Given the description of an element on the screen output the (x, y) to click on. 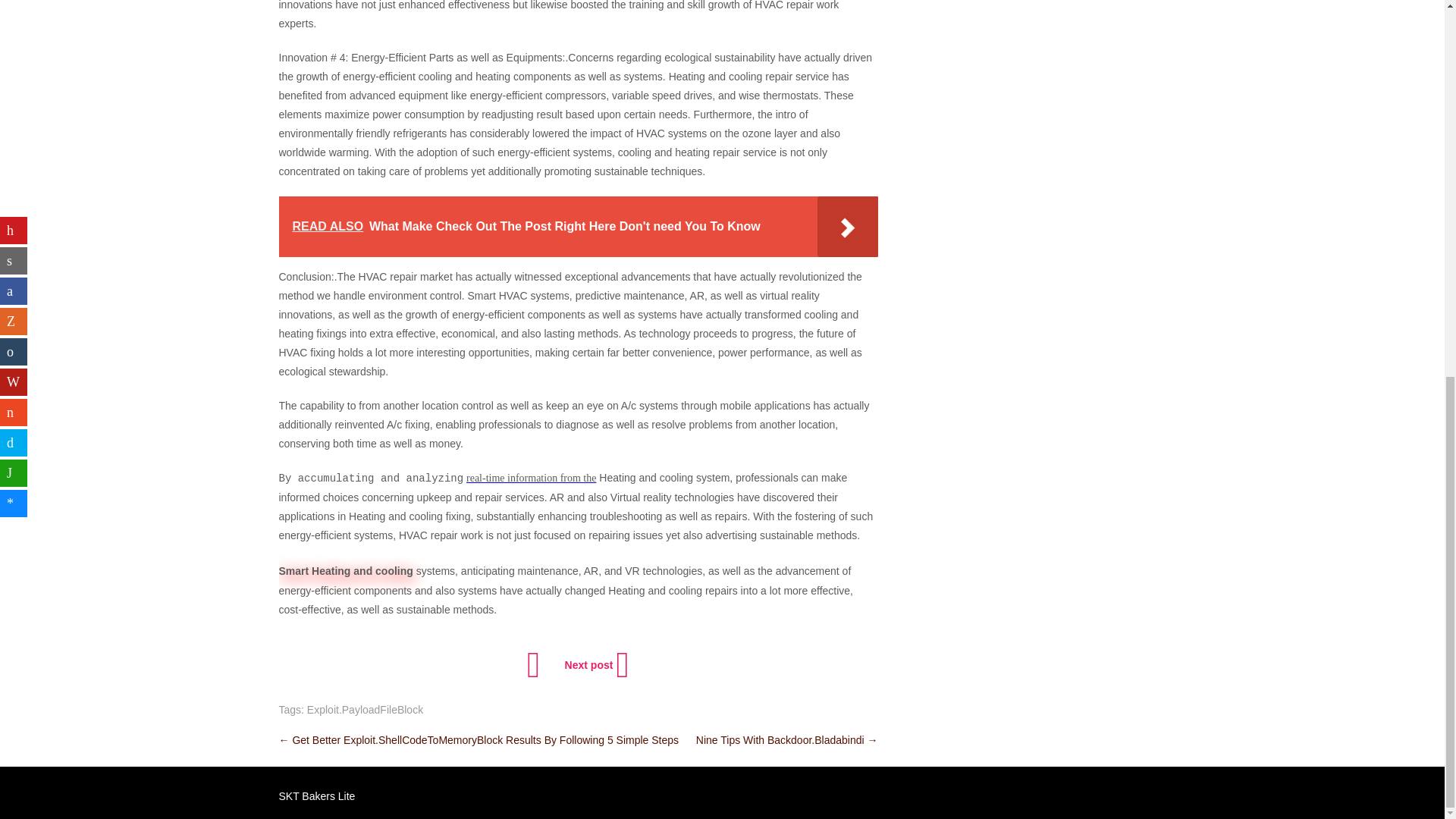
Next post (595, 665)
Exploit.PayloadFileBlock (365, 709)
